Given the description of an element on the screen output the (x, y) to click on. 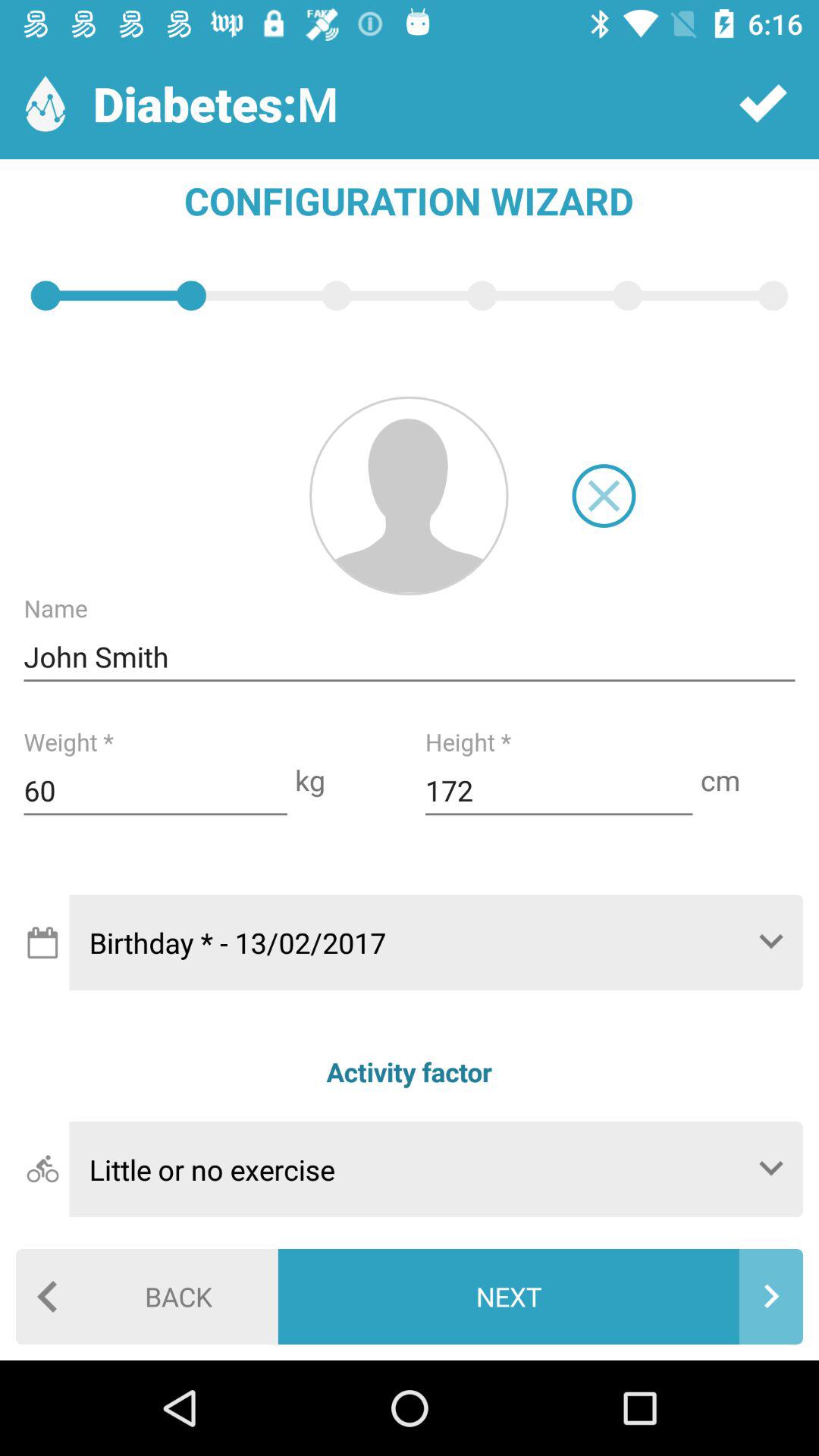
edit profile picture (408, 495)
